Given the description of an element on the screen output the (x, y) to click on. 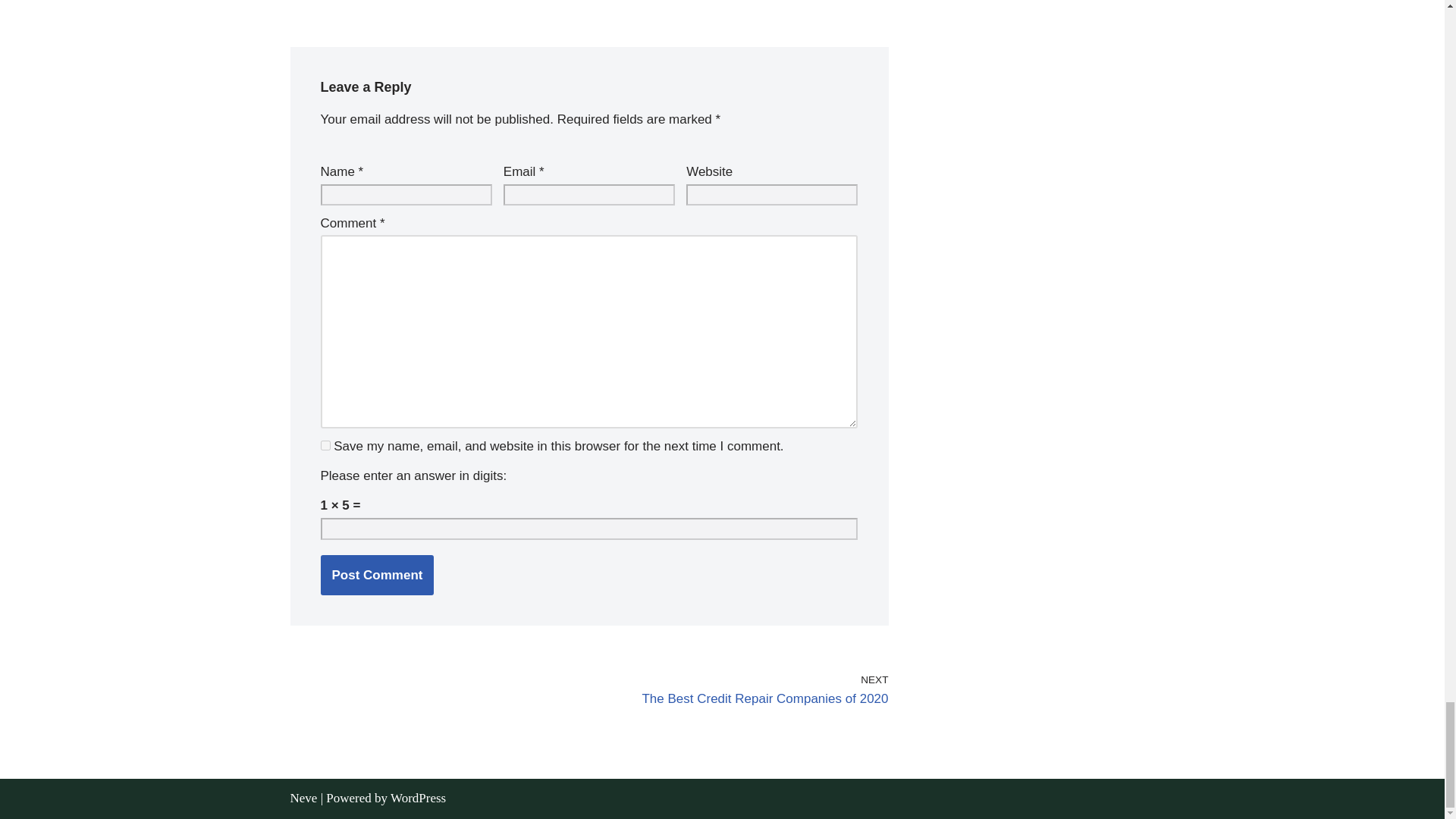
WordPress (417, 798)
Neve (742, 690)
yes (303, 798)
Post Comment (325, 445)
Post Comment (376, 575)
